Given the description of an element on the screen output the (x, y) to click on. 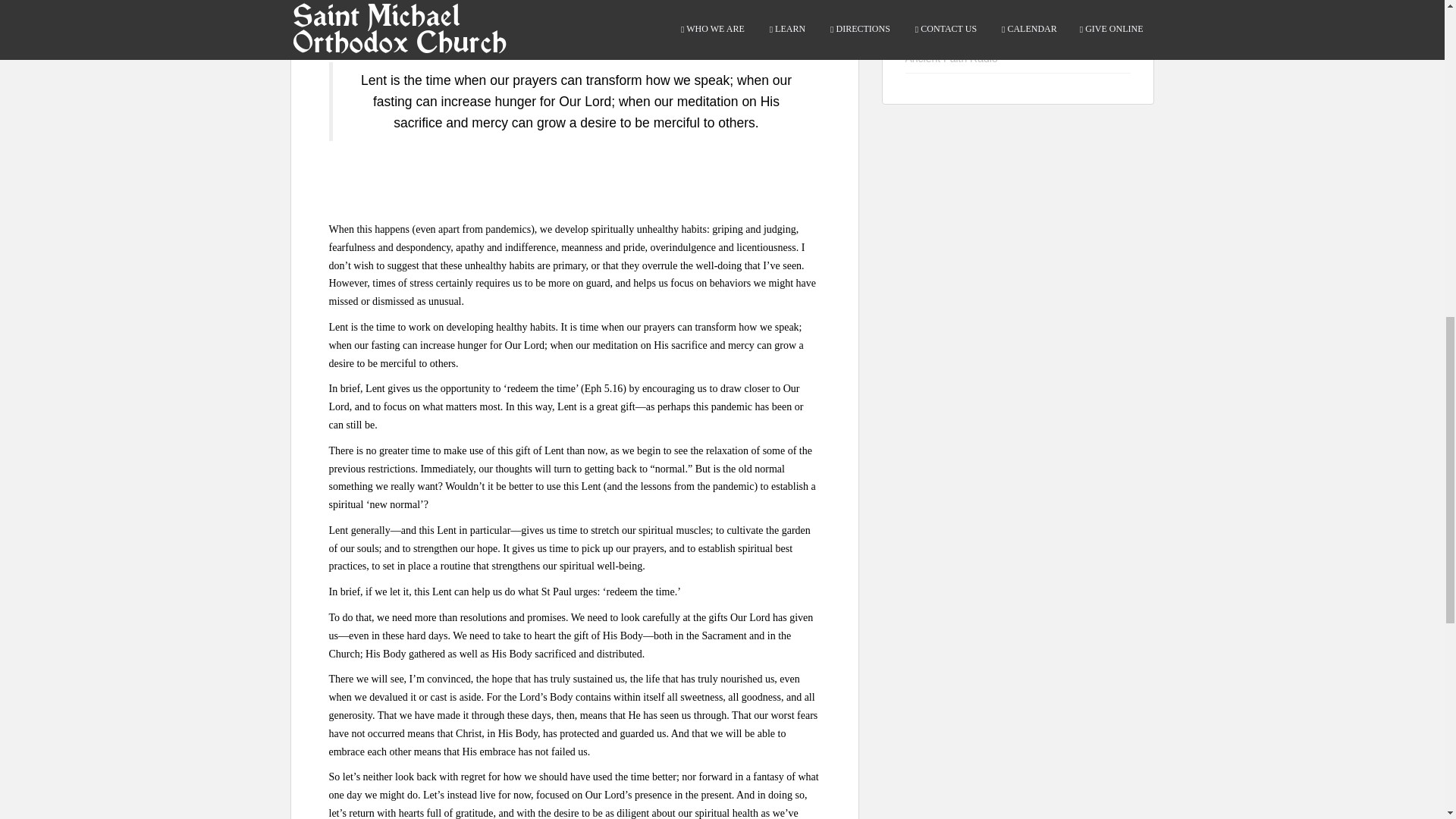
Ancient Faith Radio (951, 58)
